Given the description of an element on the screen output the (x, y) to click on. 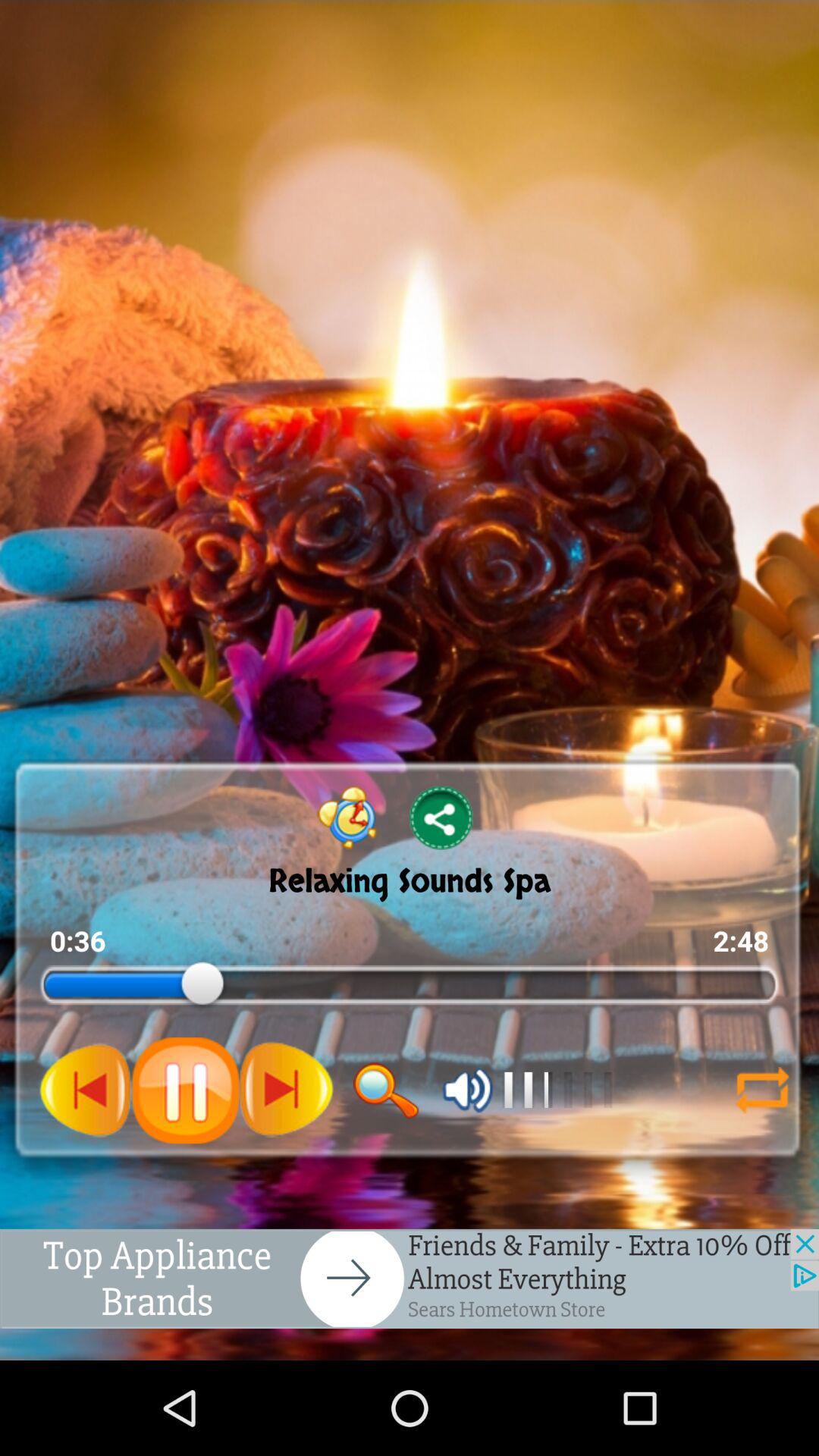
play forward (285, 1090)
